Given the description of an element on the screen output the (x, y) to click on. 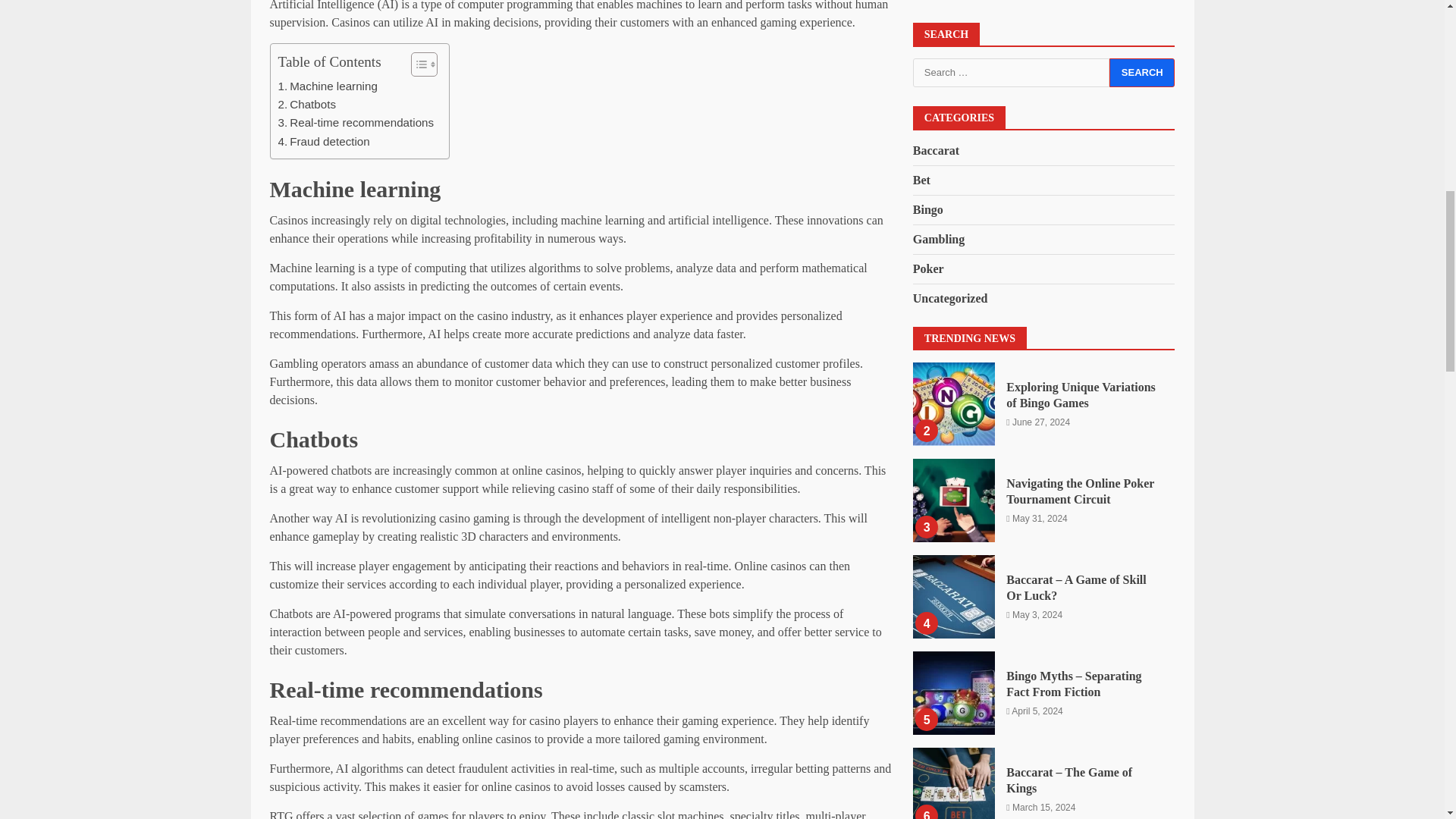
Chatbots (307, 104)
Chatbots (307, 104)
Fraud detection (323, 140)
Real-time recommendations (355, 122)
Machine learning (327, 85)
Fraud detection (323, 140)
Real-time recommendations (355, 122)
Machine learning (327, 85)
